Given the description of an element on the screen output the (x, y) to click on. 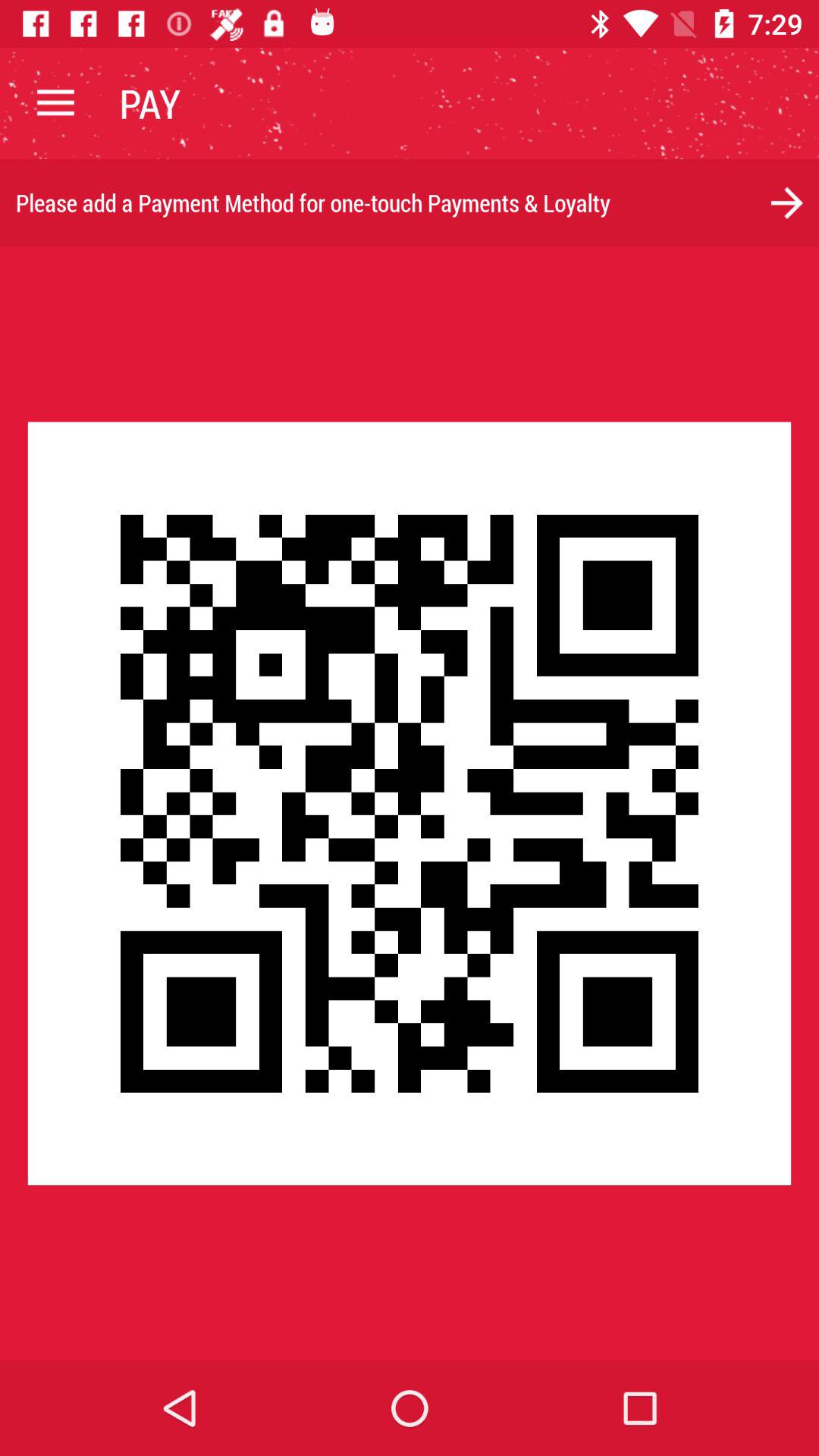
open the item above the please add a icon (55, 103)
